Given the description of an element on the screen output the (x, y) to click on. 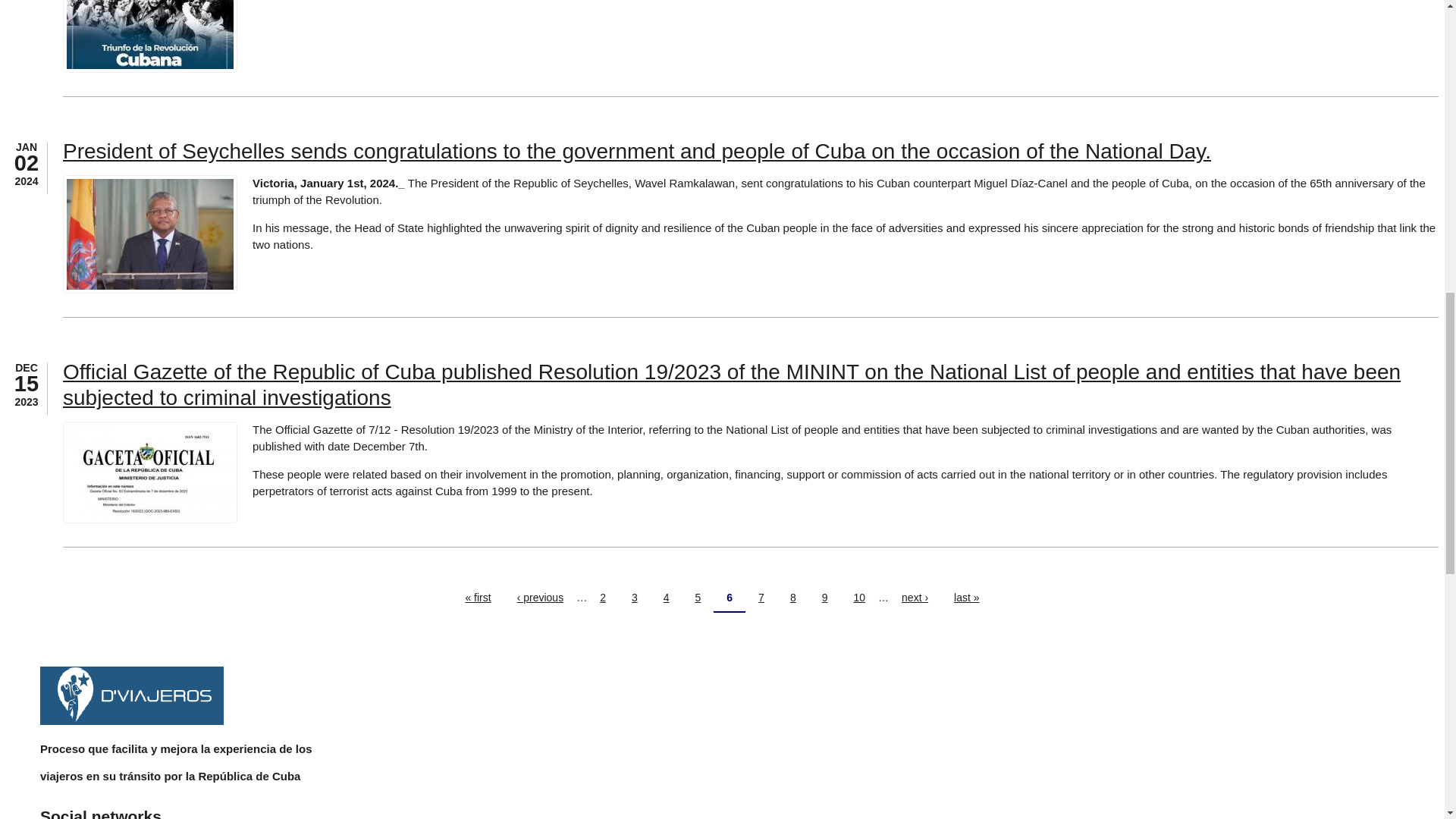
Go to last page (965, 598)
9 (825, 598)
Go to page 5 (698, 598)
Go to page 8 (793, 598)
10 (858, 598)
3 (634, 598)
Go to page 10 (858, 598)
2 (602, 598)
Go to page 3 (634, 598)
Go to previous page (539, 598)
8 (793, 598)
7 (761, 598)
Go to first page (477, 598)
5 (698, 598)
Go to page 2 (602, 598)
